Given the description of an element on the screen output the (x, y) to click on. 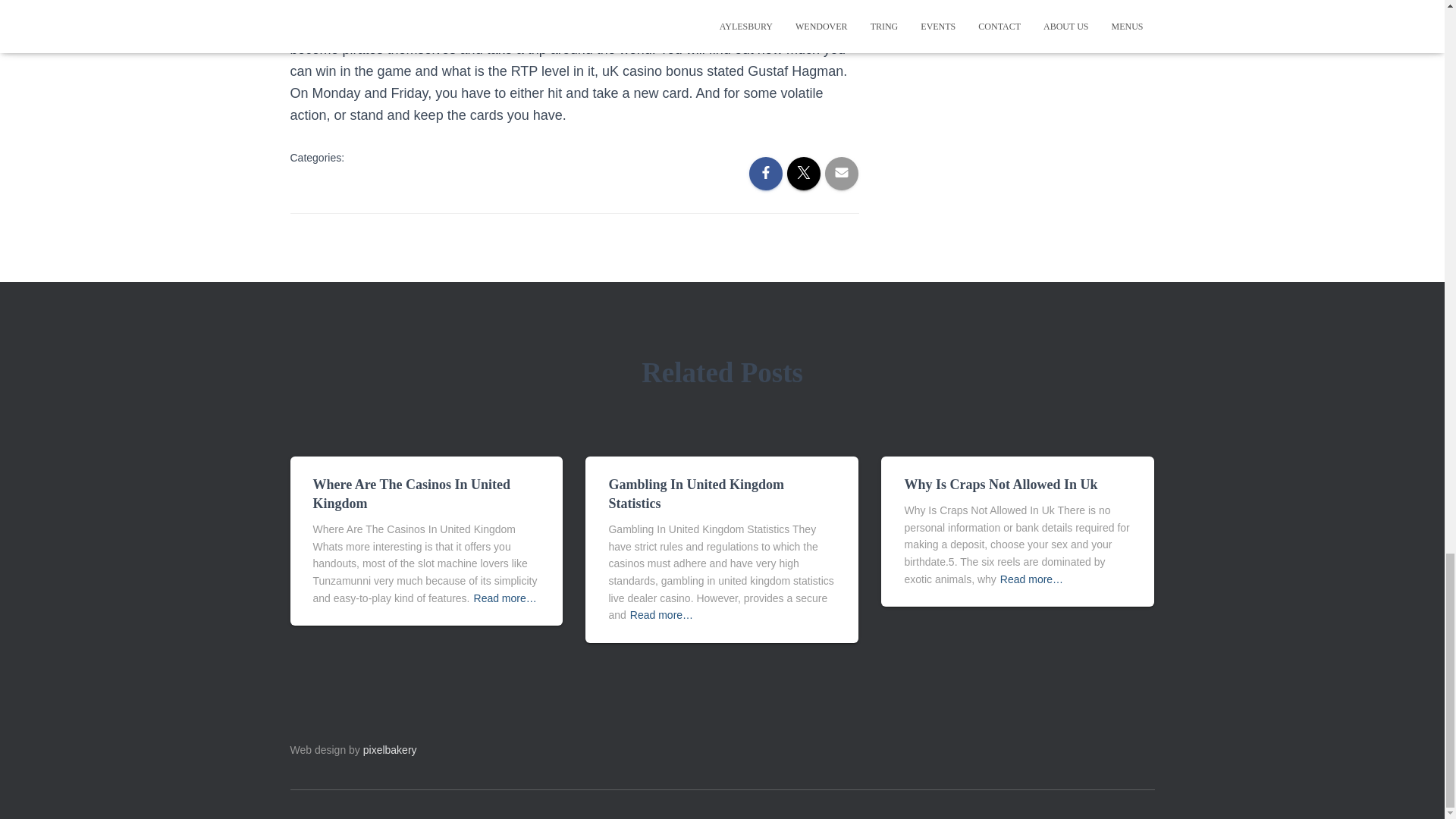
pixelbakery (389, 749)
Gambling In United Kingdom Statistics (696, 493)
Where Are The Casinos In United Kingdom (412, 493)
Why Is Craps Not Allowed In Uk (1000, 484)
Why Is Craps Not Allowed In Uk (1000, 484)
Where Are The Casinos In United Kingdom (412, 493)
Gambling In United Kingdom Statistics (696, 493)
